Given the description of an element on the screen output the (x, y) to click on. 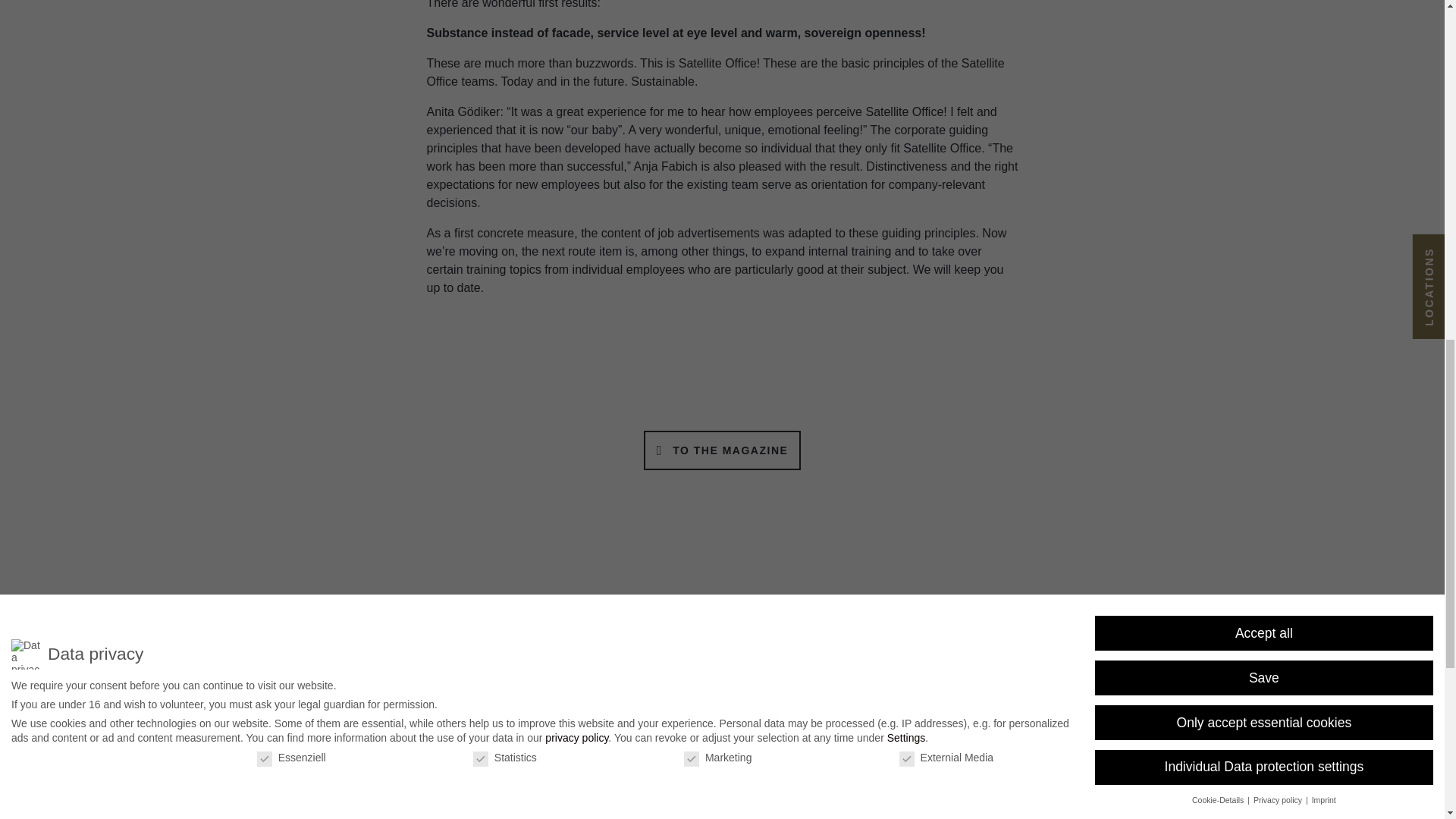
TO THE MAGAZINE (722, 450)
Startseite (342, 631)
Das Unternehmen (426, 631)
